Given the description of an element on the screen output the (x, y) to click on. 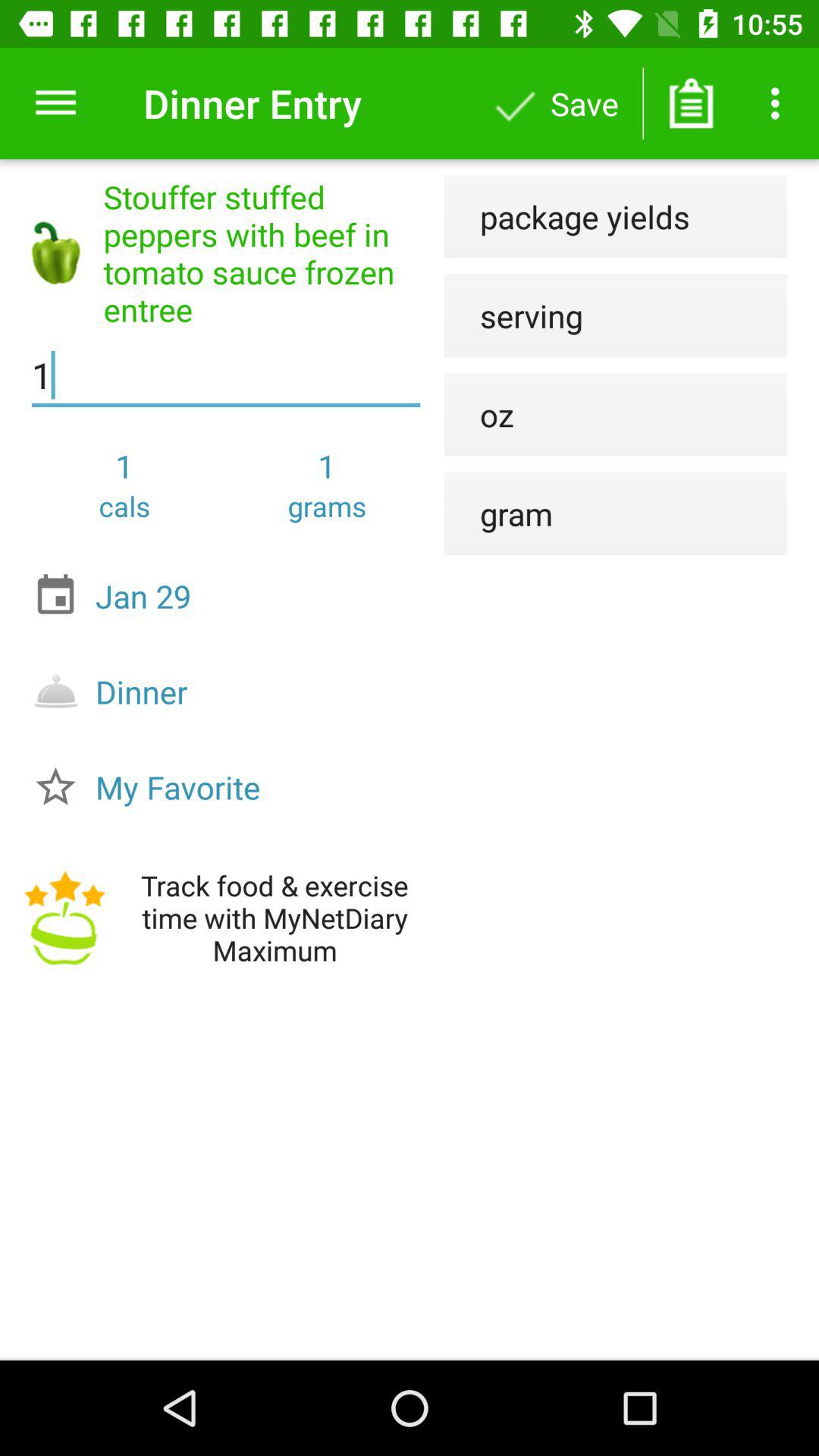
click the   gram item (498, 513)
